Given the description of an element on the screen output the (x, y) to click on. 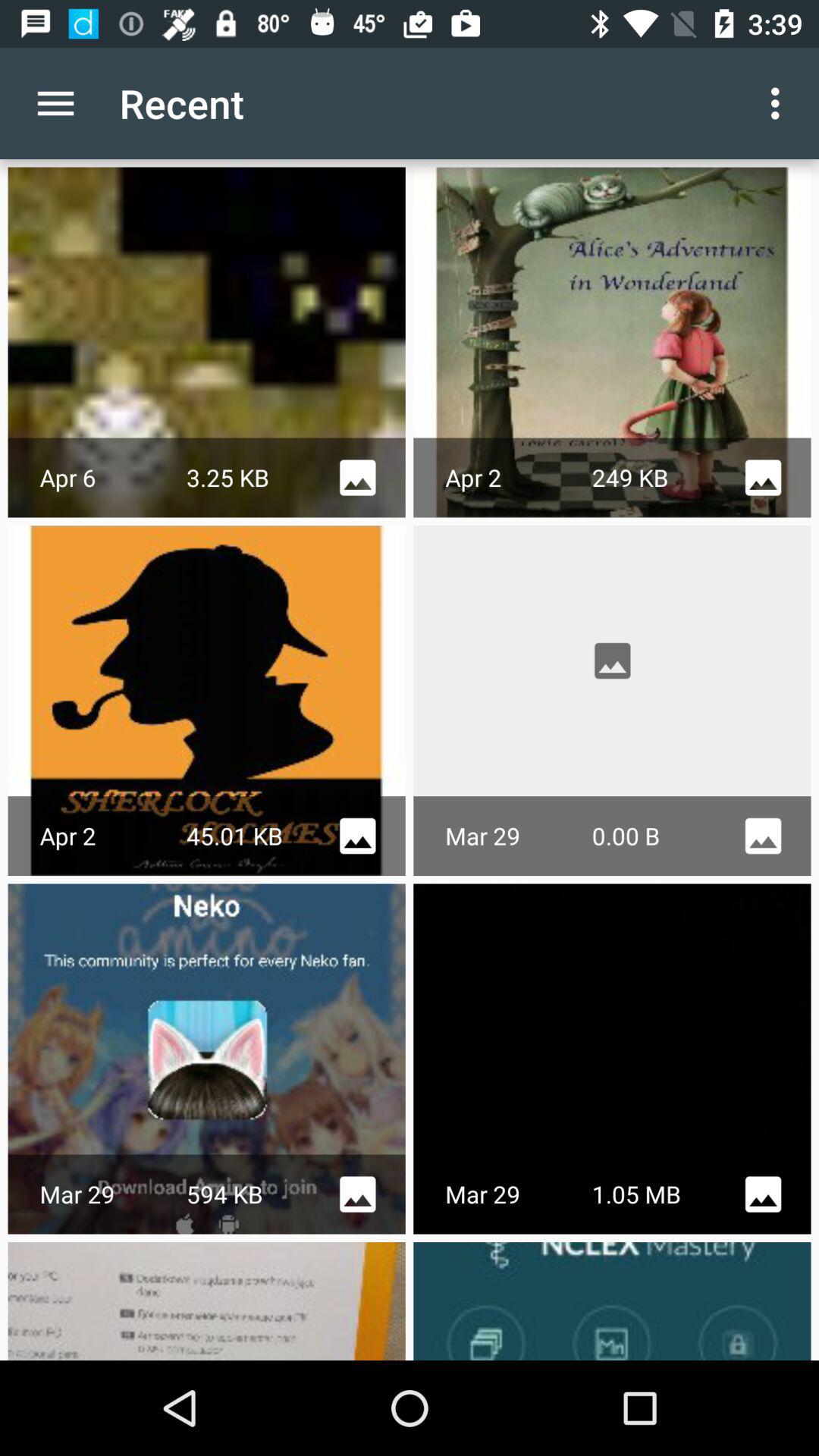
tap the app next to recent (55, 103)
